Given the description of an element on the screen output the (x, y) to click on. 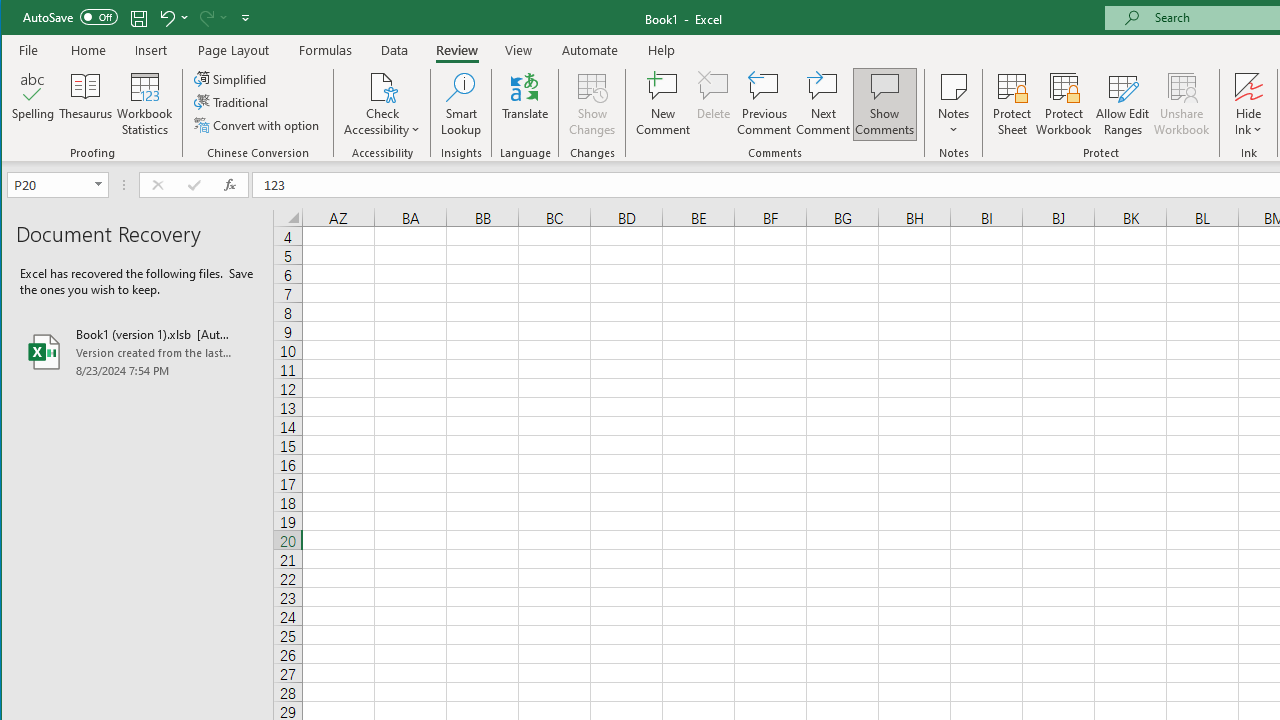
New Comment (662, 104)
Protect Workbook... (1064, 104)
Traditional (232, 101)
